Given the description of an element on the screen output the (x, y) to click on. 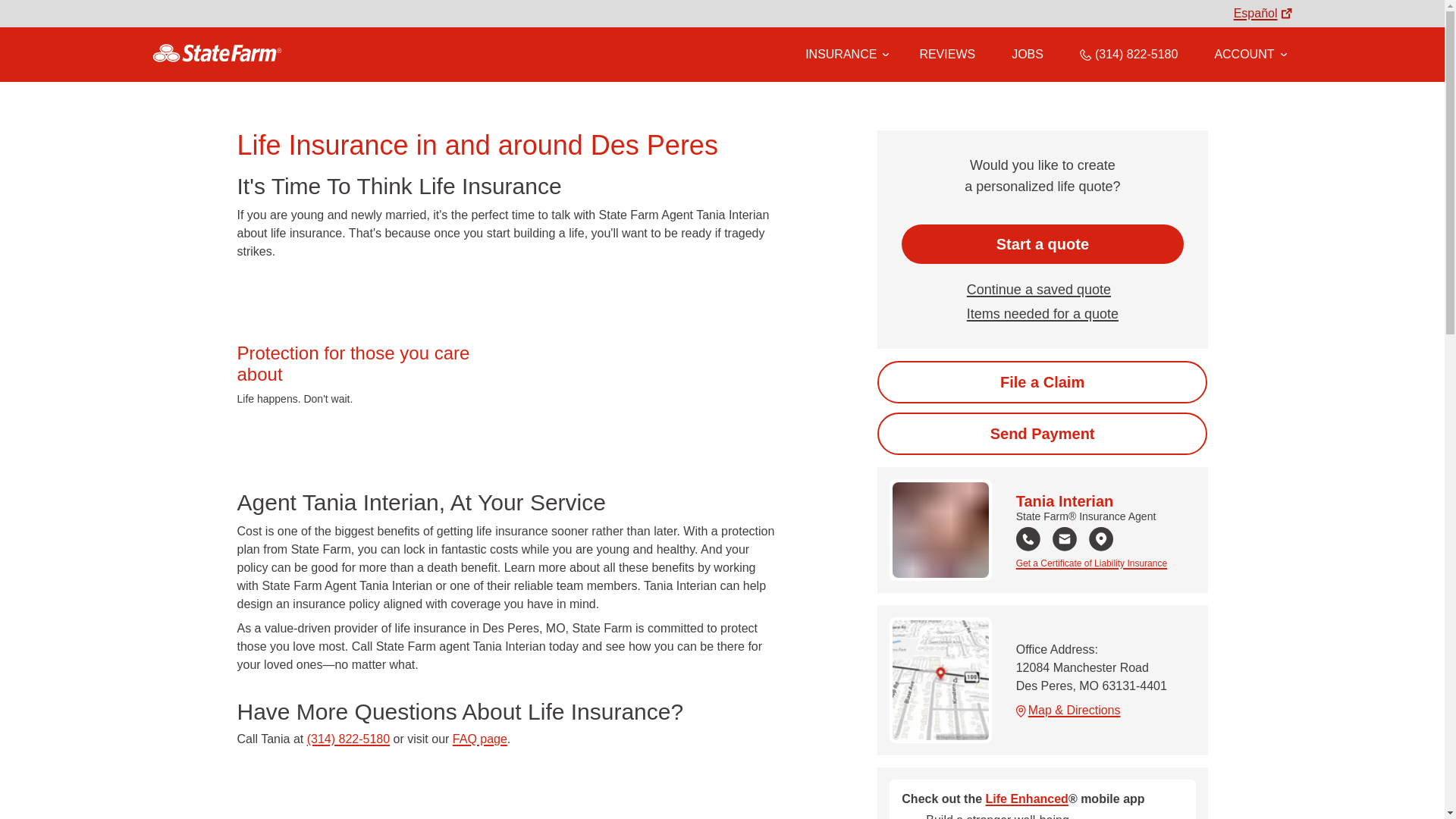
Start the claim process online (1042, 382)
Insurance (844, 54)
ACCOUNT (1250, 54)
JOBS (1027, 54)
Account Options (1250, 54)
FAQ page (479, 738)
REVIEWS (946, 54)
INSURANCE (840, 54)
